Given the description of an element on the screen output the (x, y) to click on. 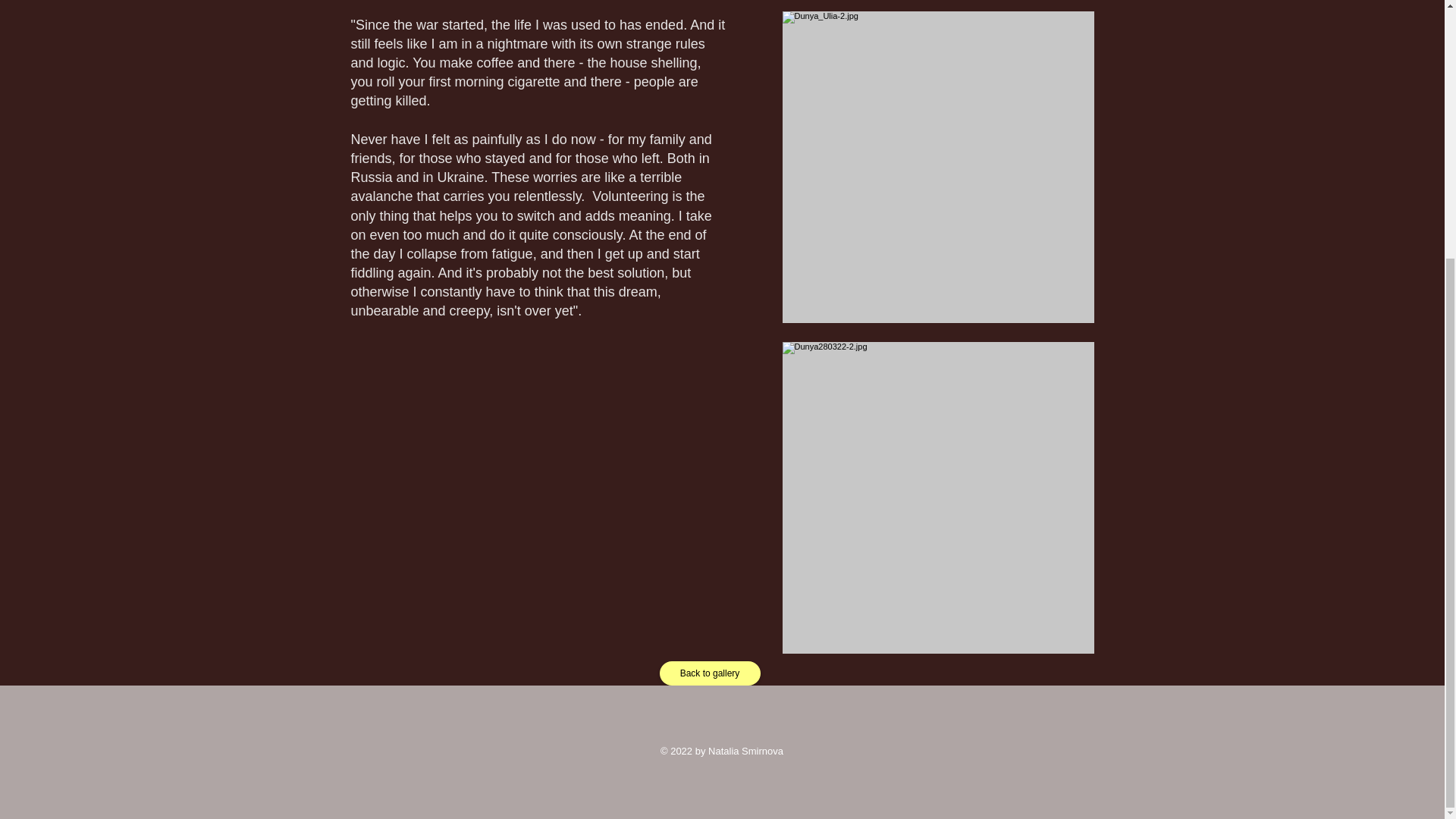
Back to gallery (709, 672)
